Given the description of an element on the screen output the (x, y) to click on. 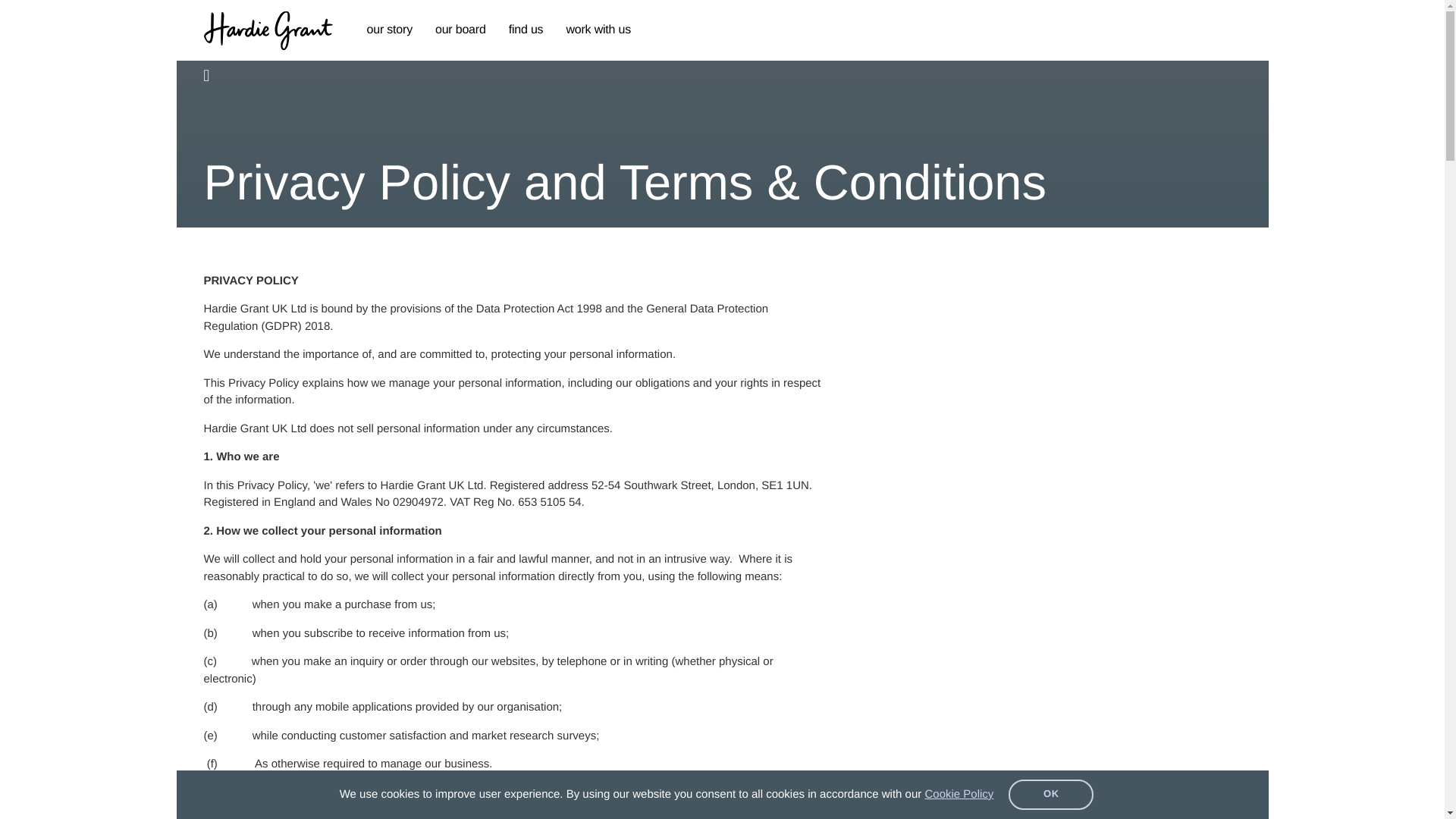
our board (460, 30)
find us (525, 30)
OK (1051, 794)
our story (389, 30)
work with us (598, 30)
Cookie Policy (958, 793)
